Given the description of an element on the screen output the (x, y) to click on. 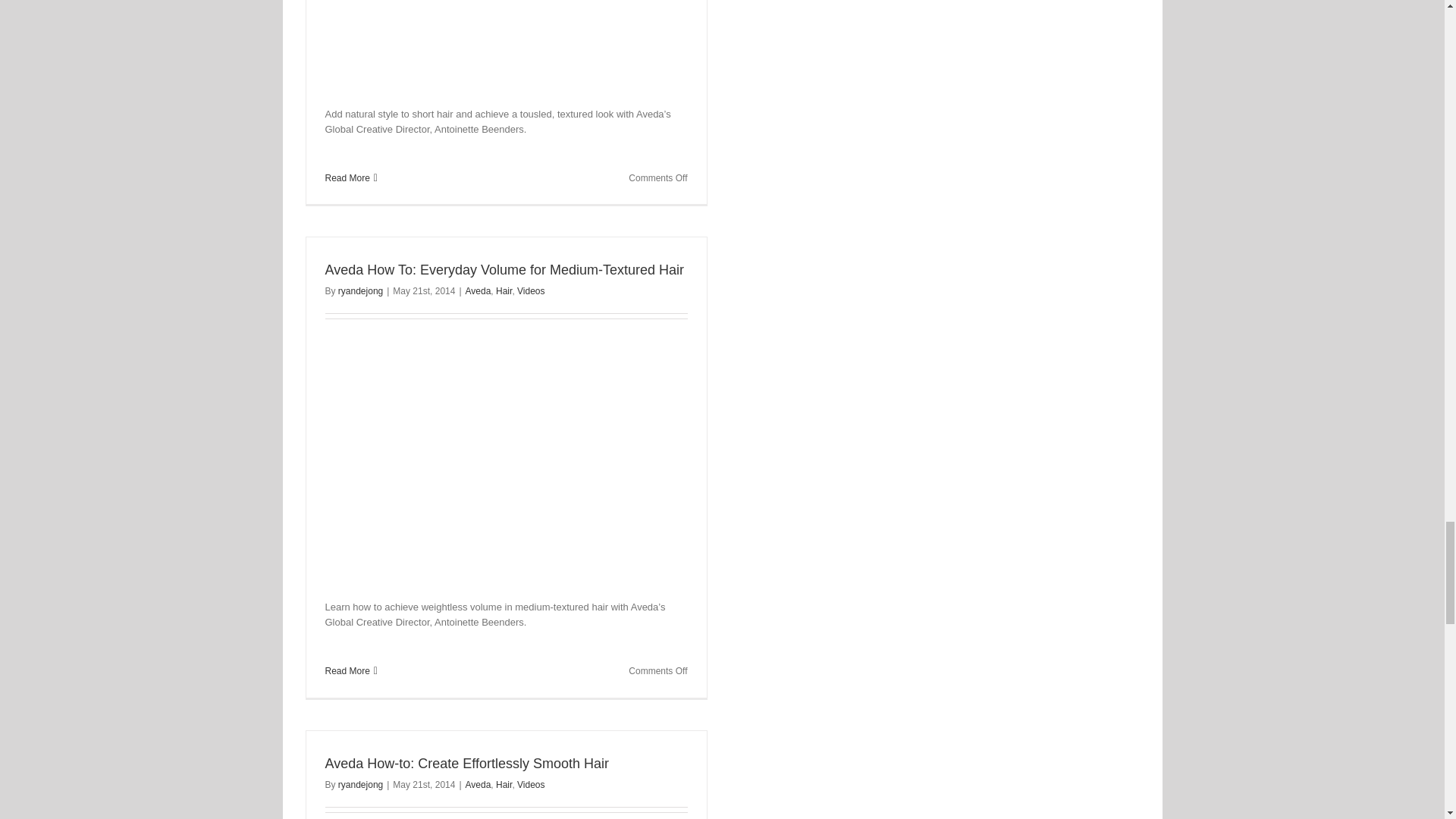
Posts by ryandejong (359, 784)
YouTube video player 2 (551, 678)
YouTube video player 1 (551, 185)
Posts by ryandejong (359, 290)
